Given the description of an element on the screen output the (x, y) to click on. 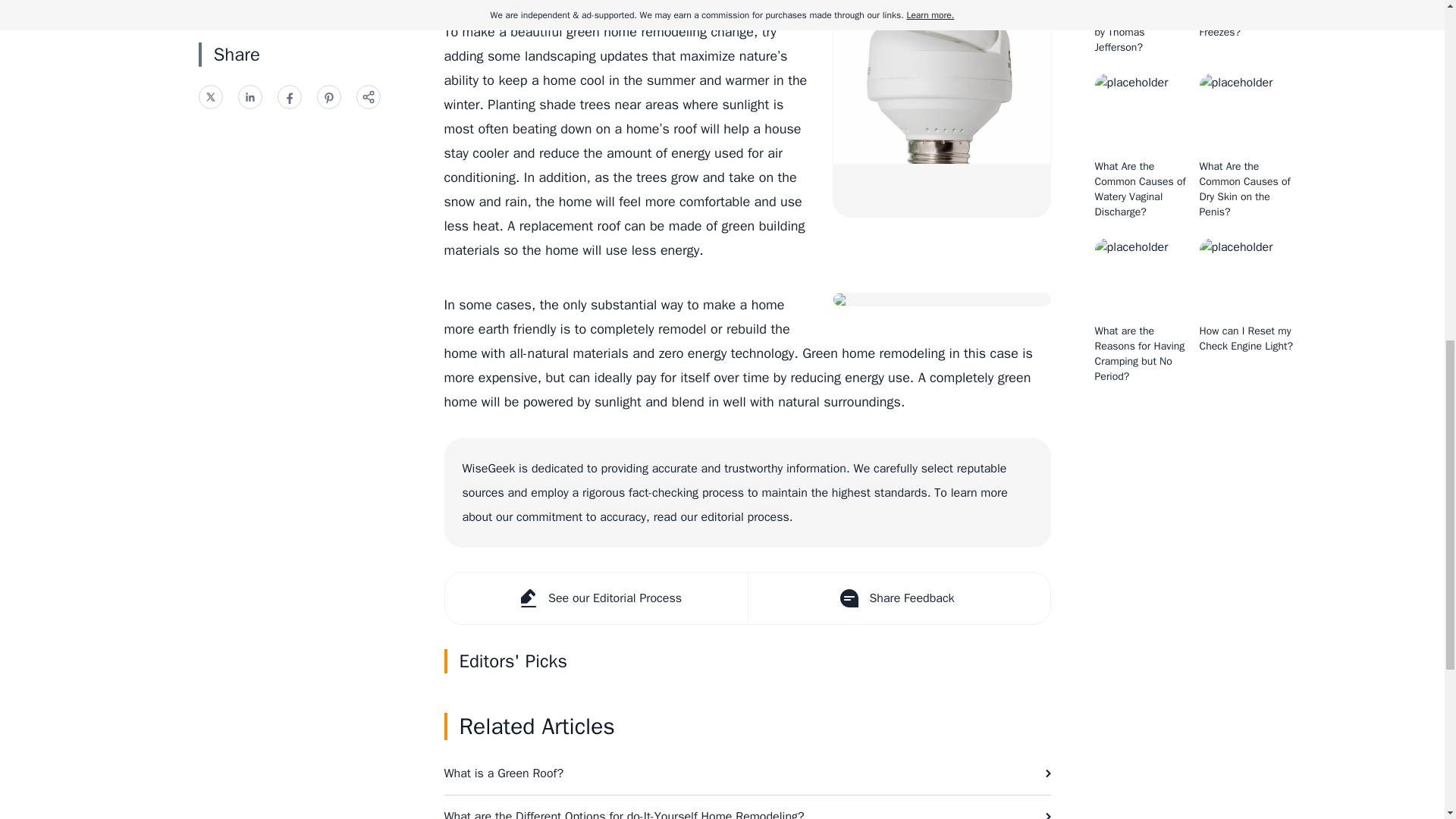
Share Feedback (898, 598)
See our Editorial Process (595, 598)
What is a Green Roof? (747, 773)
